Given the description of an element on the screen output the (x, y) to click on. 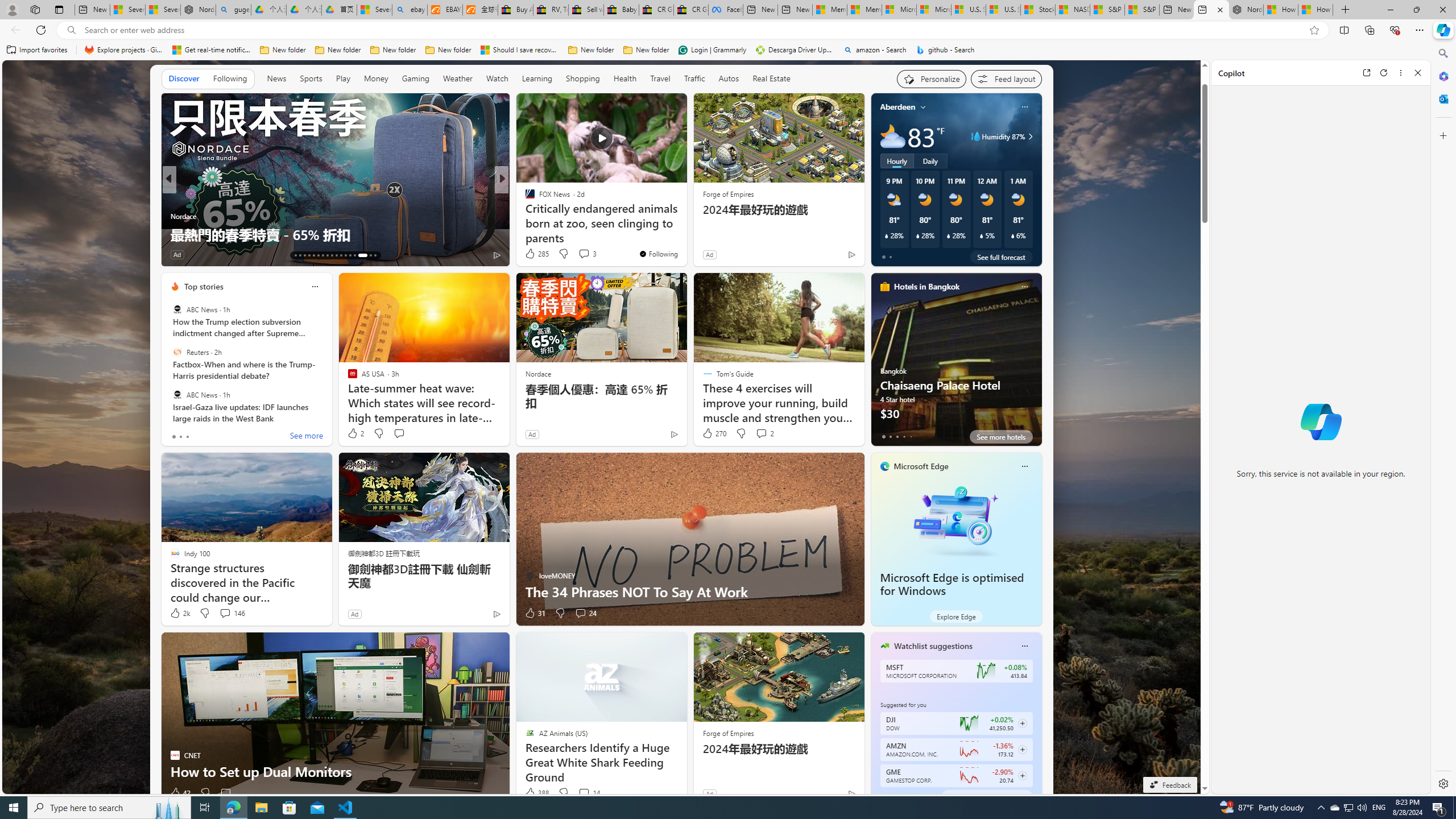
Autos (729, 78)
New Tab (1346, 9)
42 Like (179, 792)
285 Like (536, 253)
Play (342, 79)
Microsoft Edge is optimised for Windows (952, 584)
Sell worldwide with eBay (585, 9)
Hide this story (652, 106)
New folder (646, 49)
AutomationID: tab-18 (317, 255)
Watch (497, 79)
tab-4 (910, 795)
